Given the description of an element on the screen output the (x, y) to click on. 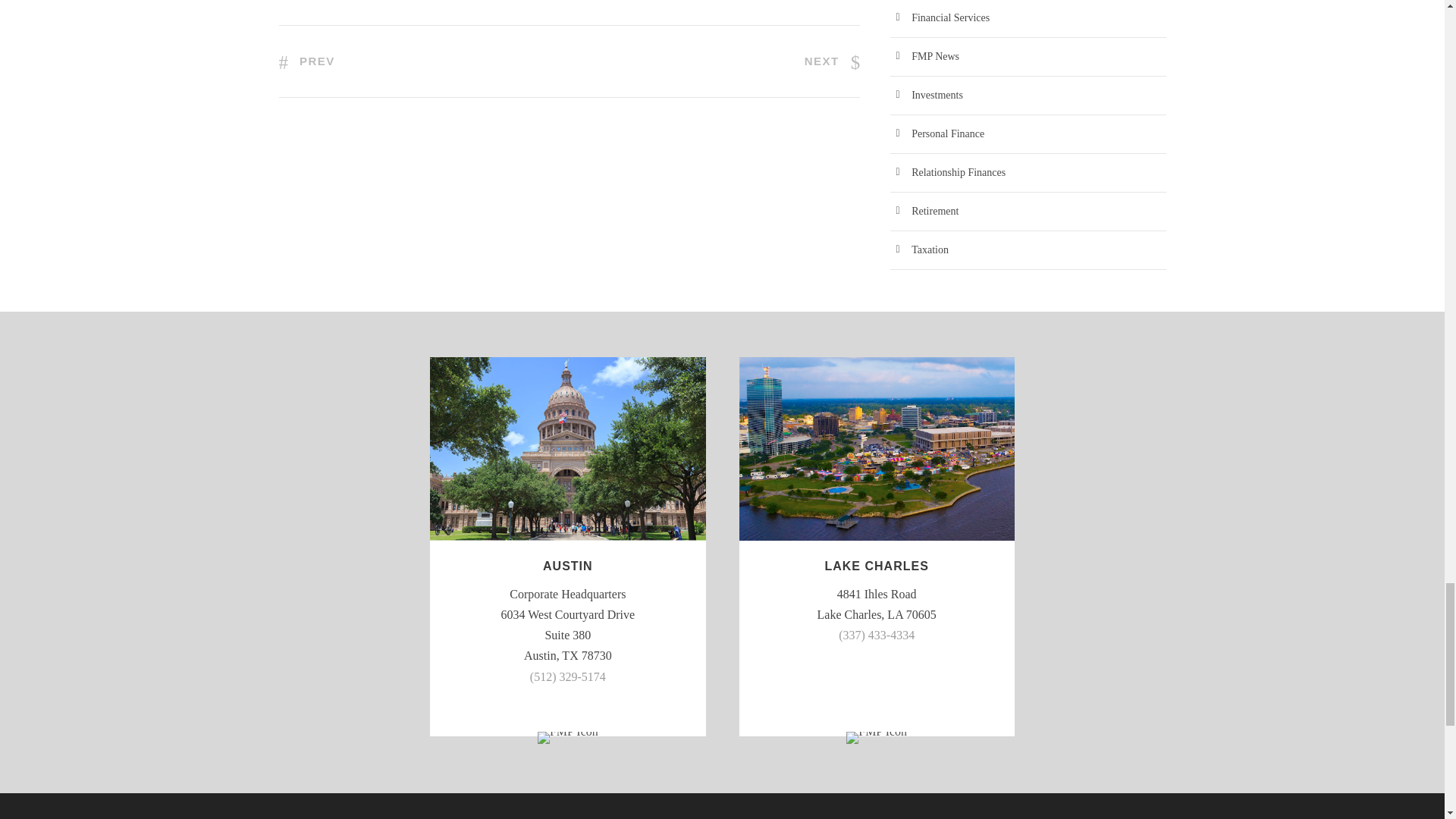
PREV (306, 60)
NEXT (832, 60)
